Given the description of an element on the screen output the (x, y) to click on. 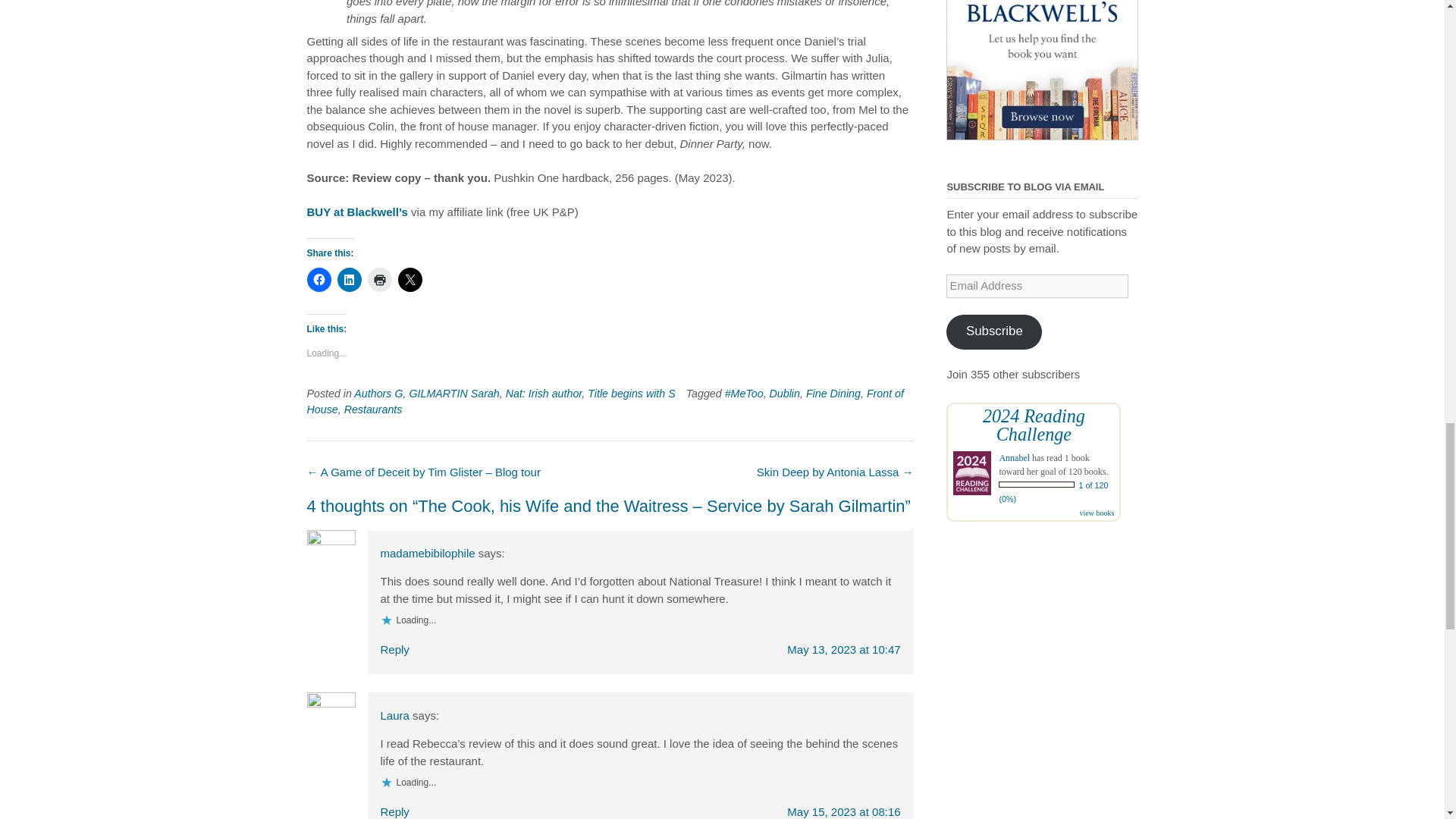
Nat: Irish author (543, 393)
GILMARTIN Sarah (454, 393)
www.blackwells.co.uk (1041, 70)
Click to print (378, 279)
Front of House (604, 401)
Click to share on LinkedIn (348, 279)
Click to share on X (409, 279)
Authors G (378, 393)
Restaurants (373, 409)
Title begins with S (631, 393)
